Given the description of an element on the screen output the (x, y) to click on. 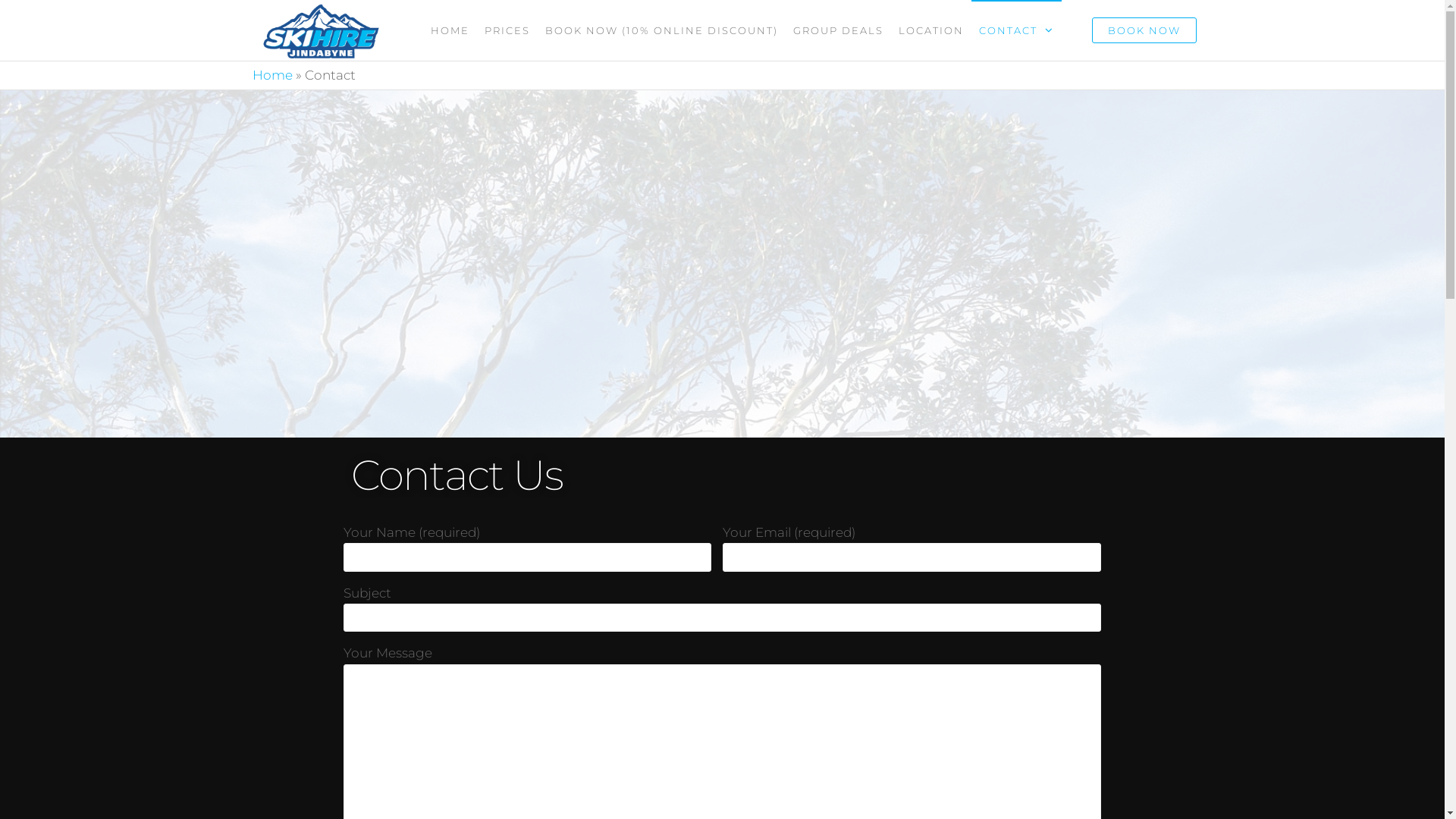
Home Element type: text (271, 74)
BOOK NOW (10% ONLINE DISCOUNT) Element type: text (661, 30)
HOME Element type: text (449, 30)
CONTACT Element type: text (1016, 30)
BOOK NOW Element type: text (1144, 30)
GROUP DEALS Element type: text (838, 30)
LOCATION Element type: text (931, 30)
PRICES Element type: text (506, 30)
